Given the description of an element on the screen output the (x, y) to click on. 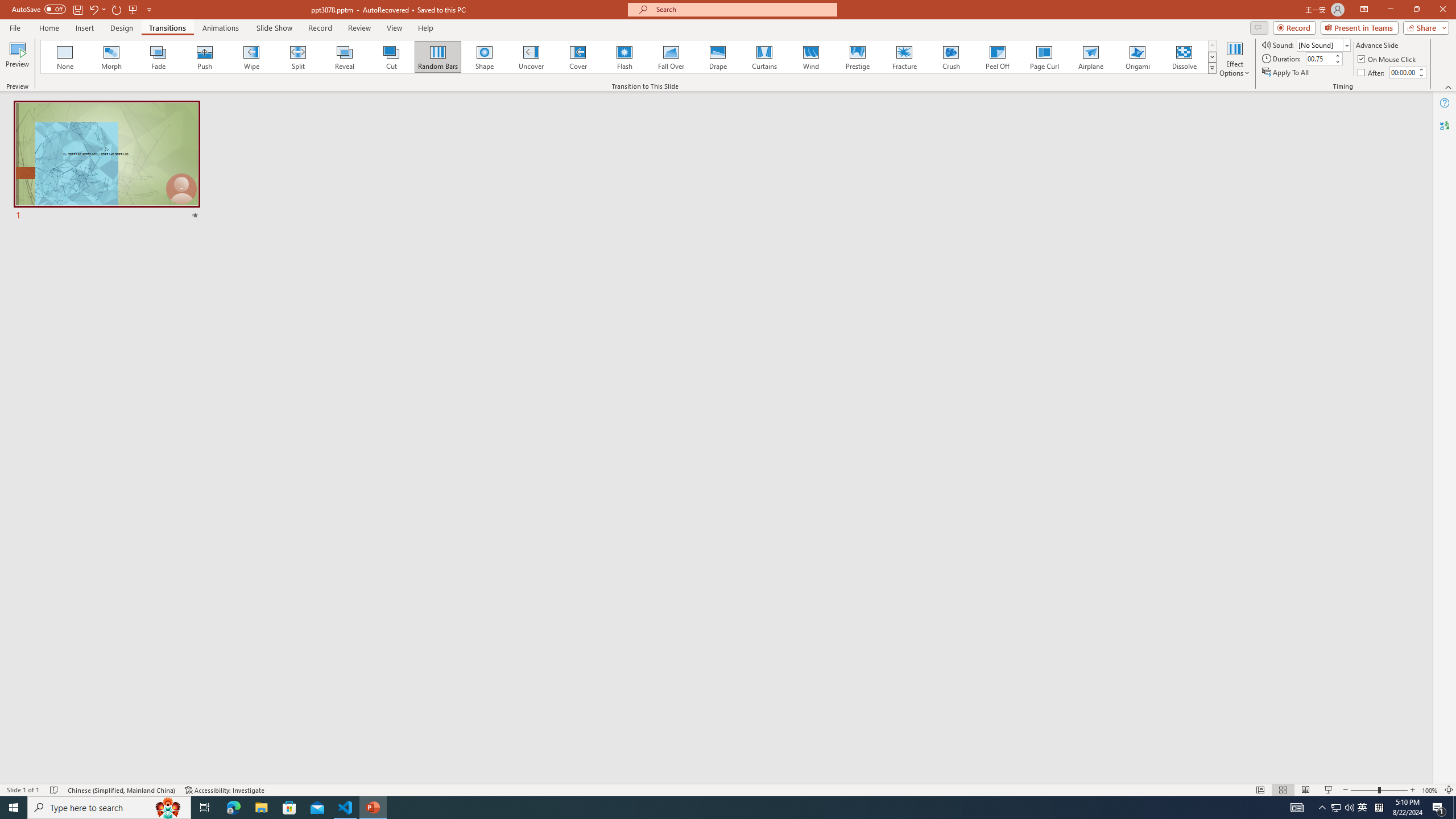
AutomationID: AnimationTransitionGallery (628, 56)
Morph (111, 56)
Peel Off (997, 56)
Curtains (764, 56)
Crush (950, 56)
Wind (810, 56)
